Given the description of an element on the screen output the (x, y) to click on. 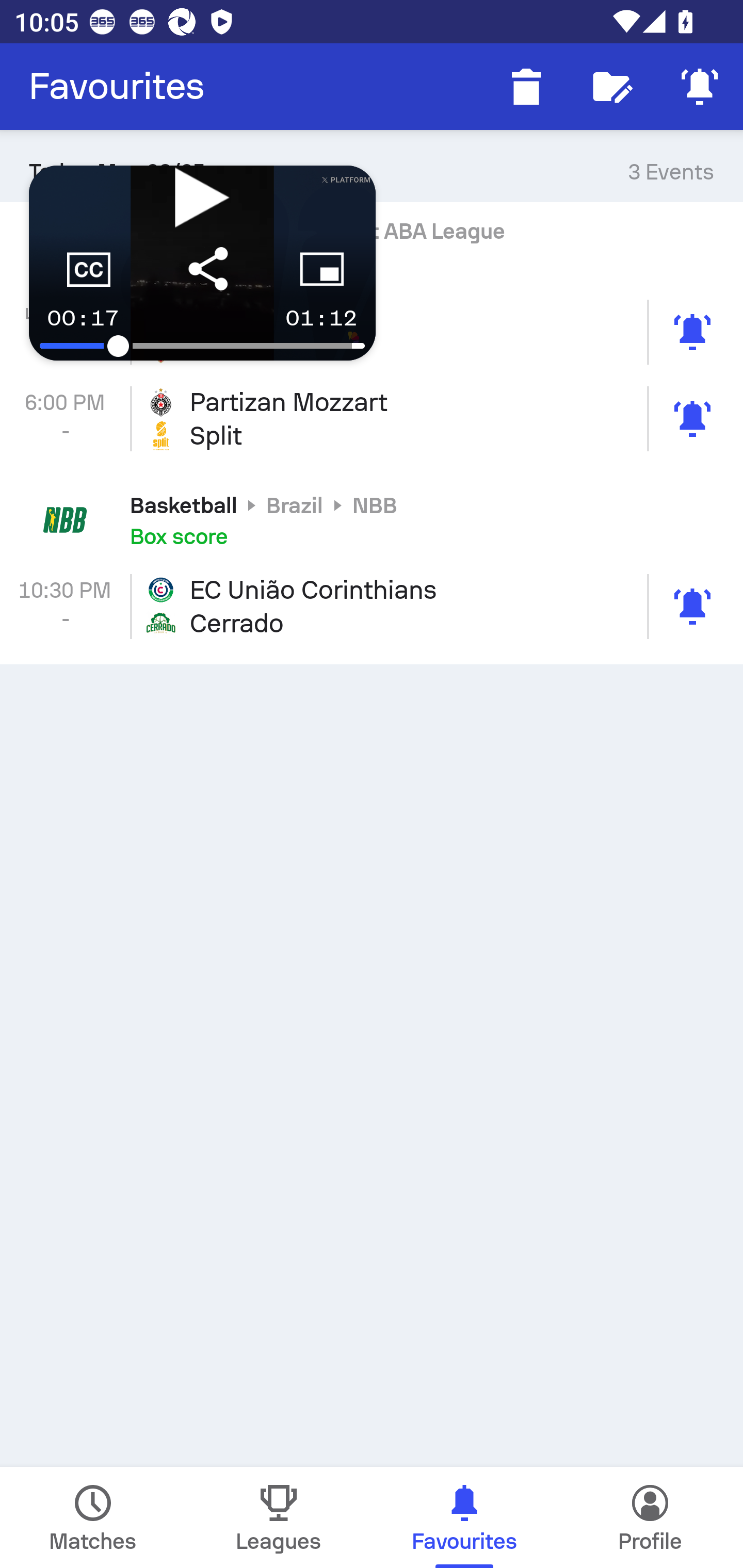
Favourites (116, 86)
Delete finished (525, 86)
Follow editor (612, 86)
Mute Notifications (699, 86)
6:00 PM - Partizan Mozzart Split (371, 418)
Basketball Brazil NBB Box score (371, 519)
10:30 PM - EC União Corinthians Cerrado (371, 605)
Matches (92, 1517)
Leagues (278, 1517)
Profile (650, 1517)
